Given the description of an element on the screen output the (x, y) to click on. 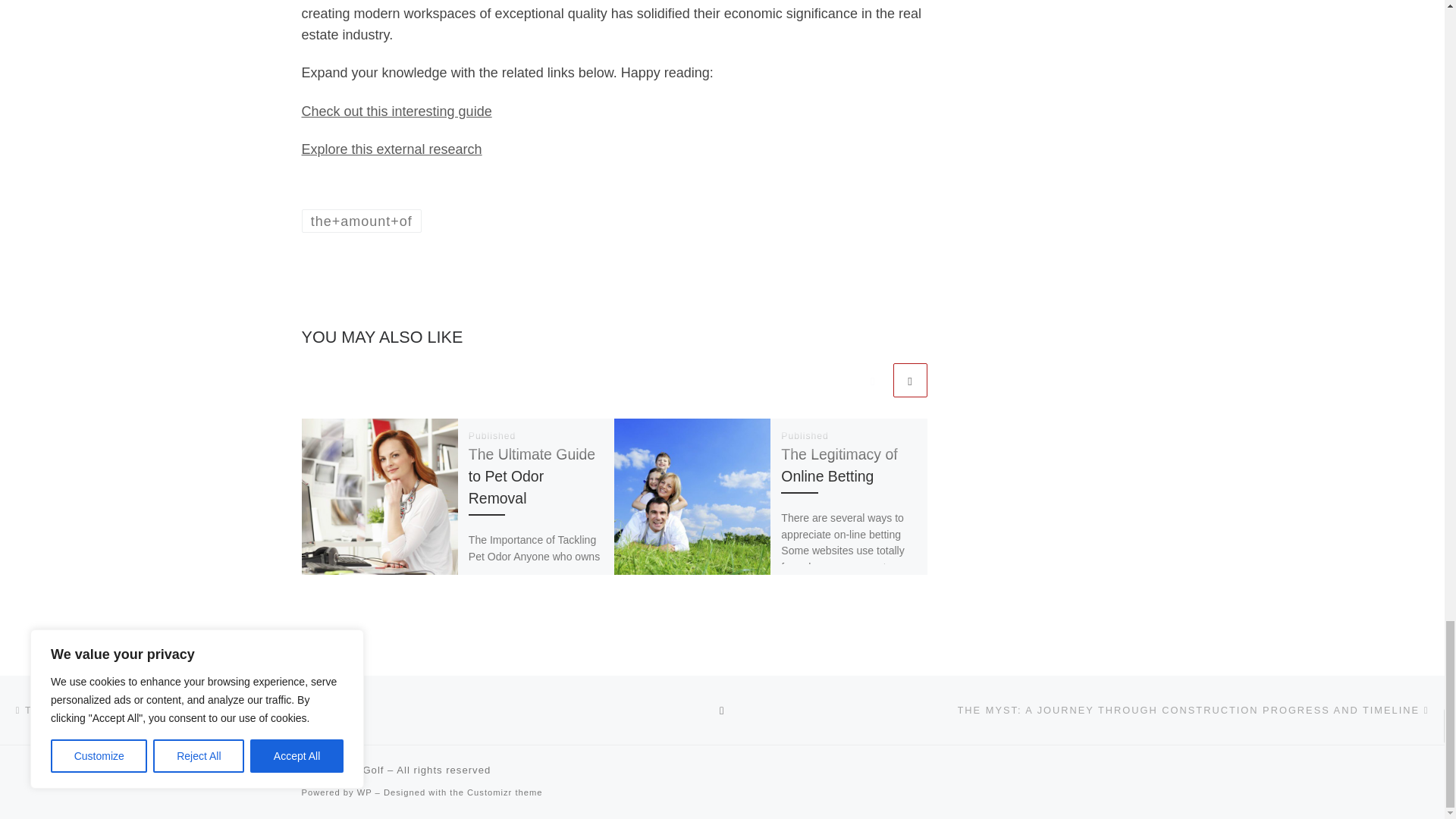
Powered by WordPress (364, 791)
Explore this external research (391, 149)
Wrt Golf (363, 769)
Next related articles (910, 380)
Previous related articles (872, 380)
Check out this interesting guide (396, 111)
